Given the description of an element on the screen output the (x, y) to click on. 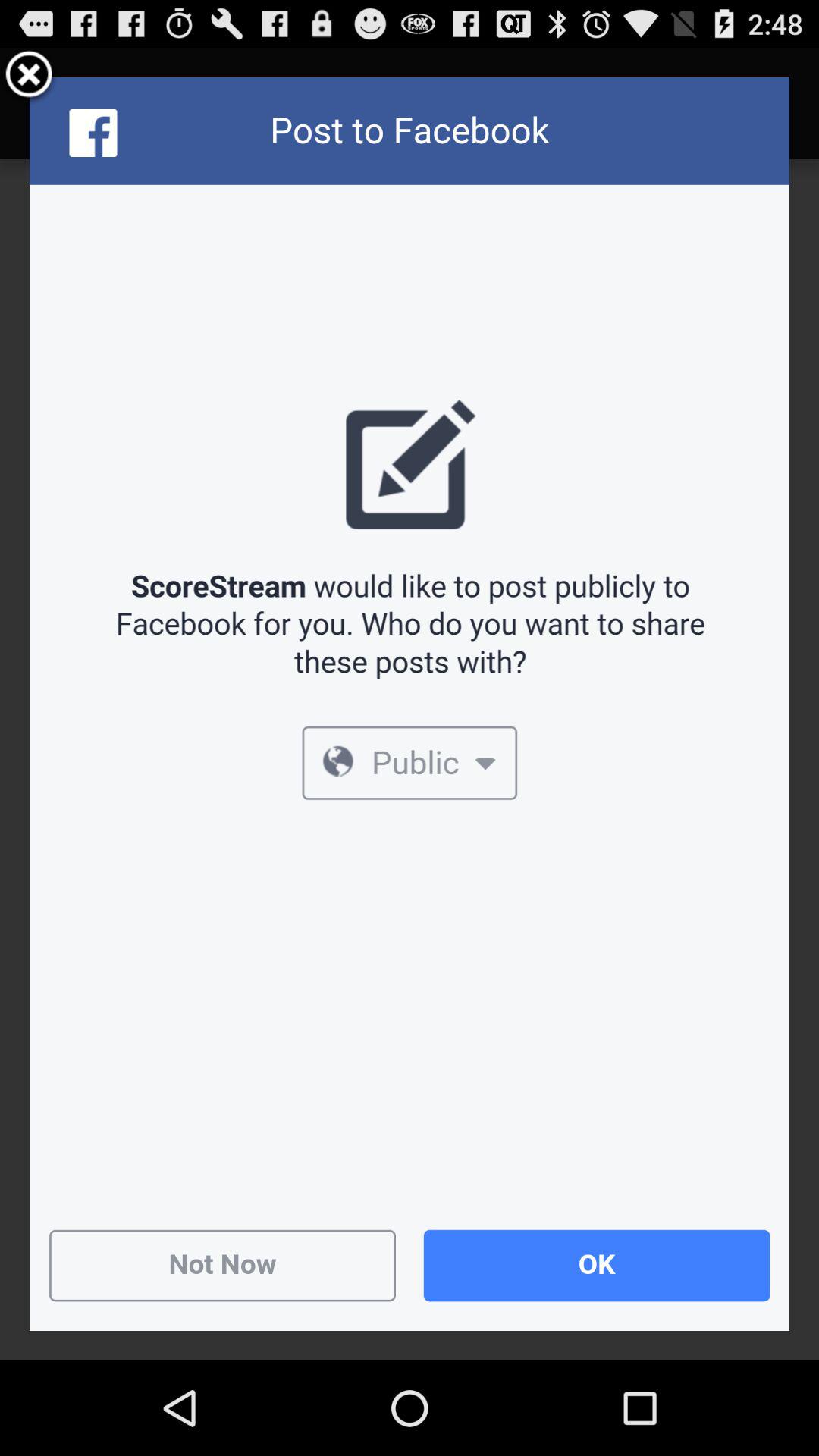
close scree (29, 76)
